Given the description of an element on the screen output the (x, y) to click on. 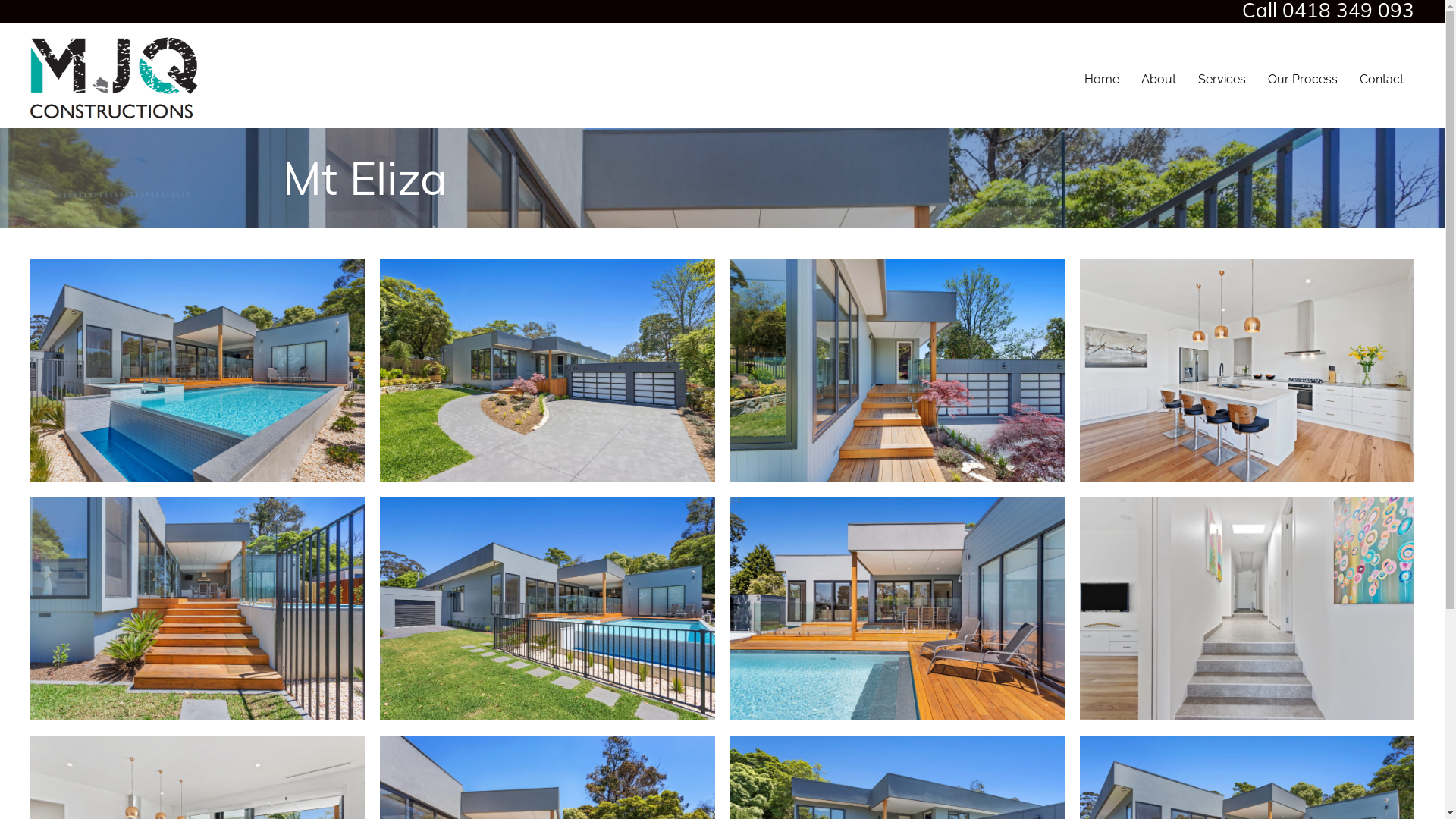
Screen Shot 2019-08-28 at 2.21.41 pm Element type: hover (116, 78)
Contact Element type: text (1381, 79)
13 Ti Tree Lane Mount Eliza_011 Element type: hover (1246, 608)
13 Ti Tree Lane Mount Eliza_005 Element type: hover (896, 608)
13 Ti Tree Lane Mount Eliza_004 Element type: hover (546, 608)
13 Ti Tree Lane Mount Eliza_009 Element type: hover (1246, 369)
13 Ti Tree Lane Mount Eliza_003 Element type: hover (896, 369)
13 Ti Tree Lane Mount Eliza_001 Element type: hover (546, 369)
Home Element type: text (1101, 79)
Services Element type: text (1221, 79)
13 Ti Tree Lane Mount Eliza_006-1 Element type: hover (197, 369)
About Element type: text (1158, 79)
Our Process Element type: text (1302, 79)
13 Ti Tree Lane Mount Eliza_008 Element type: hover (197, 608)
